Given the description of an element on the screen output the (x, y) to click on. 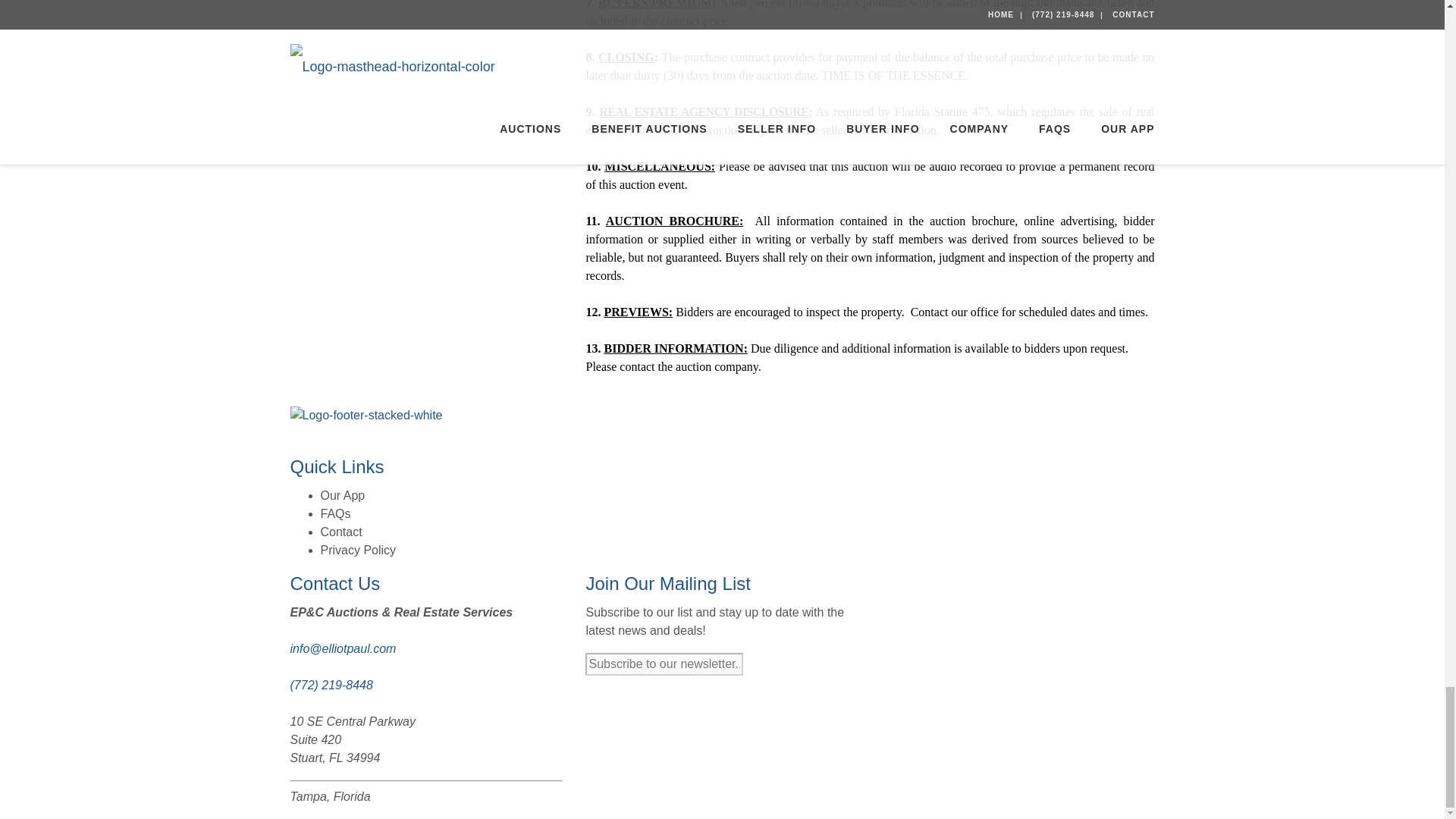
Privacy Policy (358, 549)
Our App (342, 495)
Contact (340, 531)
FAQs (335, 513)
